Given the description of an element on the screen output the (x, y) to click on. 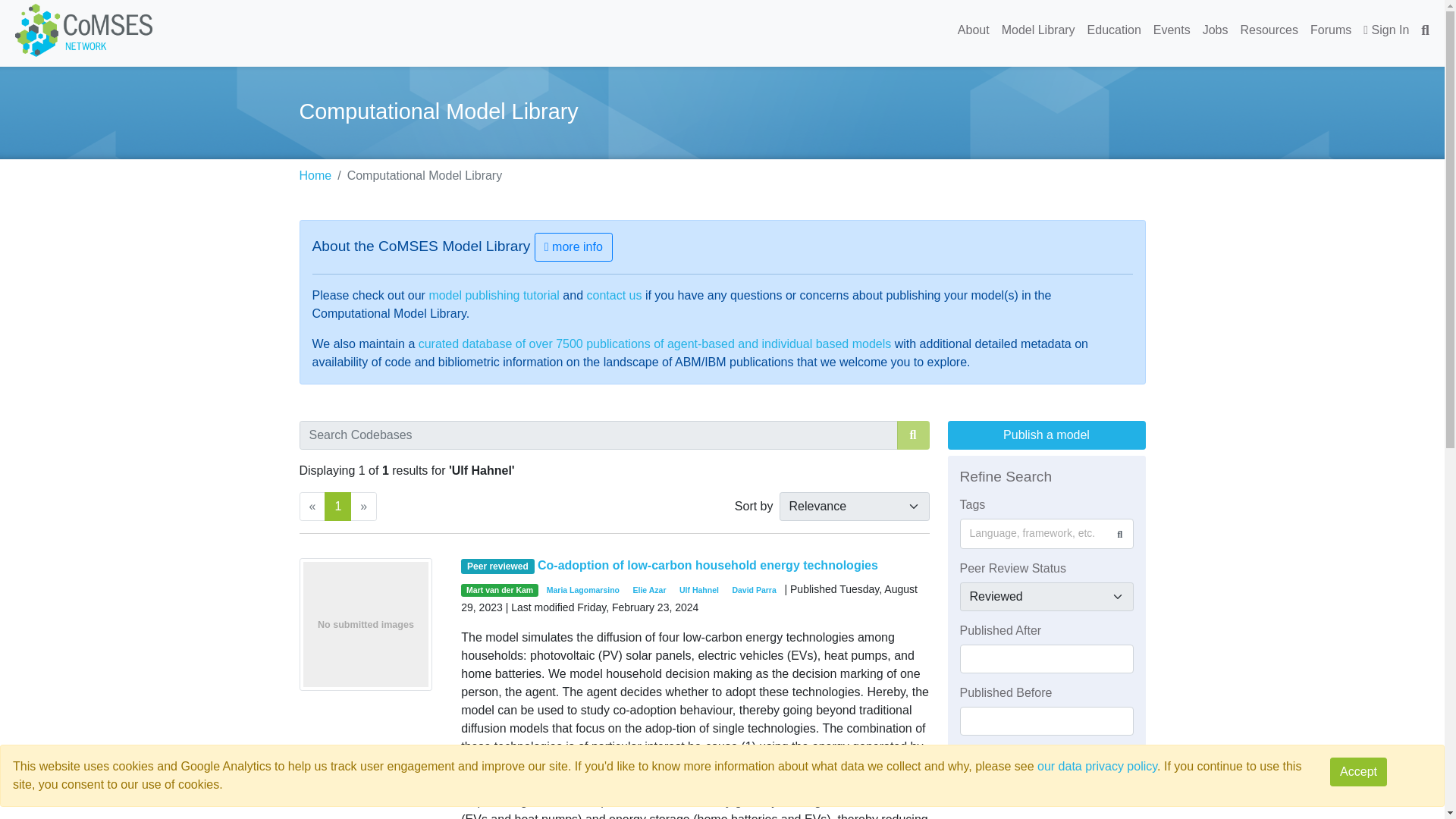
Forums (1330, 30)
Home (314, 174)
About (973, 30)
more info (573, 246)
Resources (1269, 30)
David Parra (753, 590)
1 (337, 506)
Mart van der Kam (499, 590)
Co-adoption of low-carbon household energy technologies (707, 564)
Ulf Hahnel (698, 590)
